Given the description of an element on the screen output the (x, y) to click on. 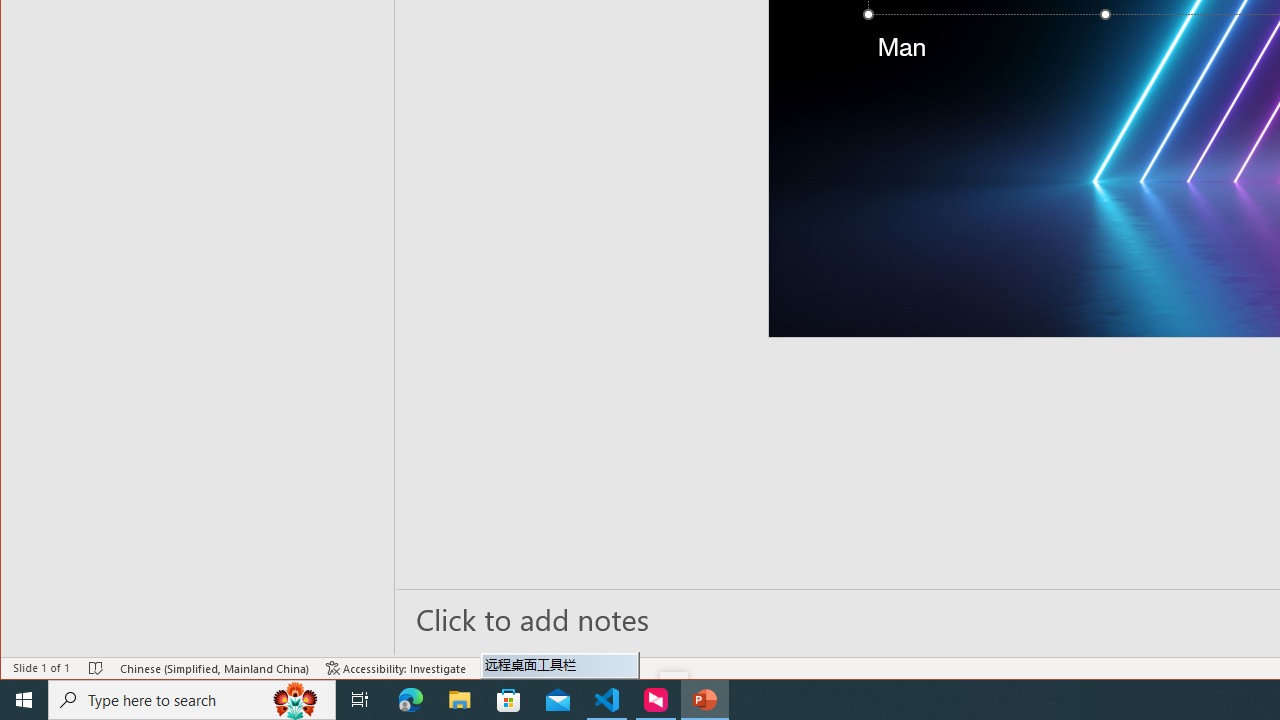
Microsoft Store (509, 699)
Microsoft Edge (411, 699)
File Explorer (460, 699)
Task View (359, 699)
Type here to search (191, 699)
Search highlights icon opens search home window (295, 699)
Start (24, 699)
PowerPoint - 1 running window (704, 699)
Accessibility Checker Accessibility: Investigate (395, 668)
Visual Studio Code - 1 running window (607, 699)
